Given the description of an element on the screen output the (x, y) to click on. 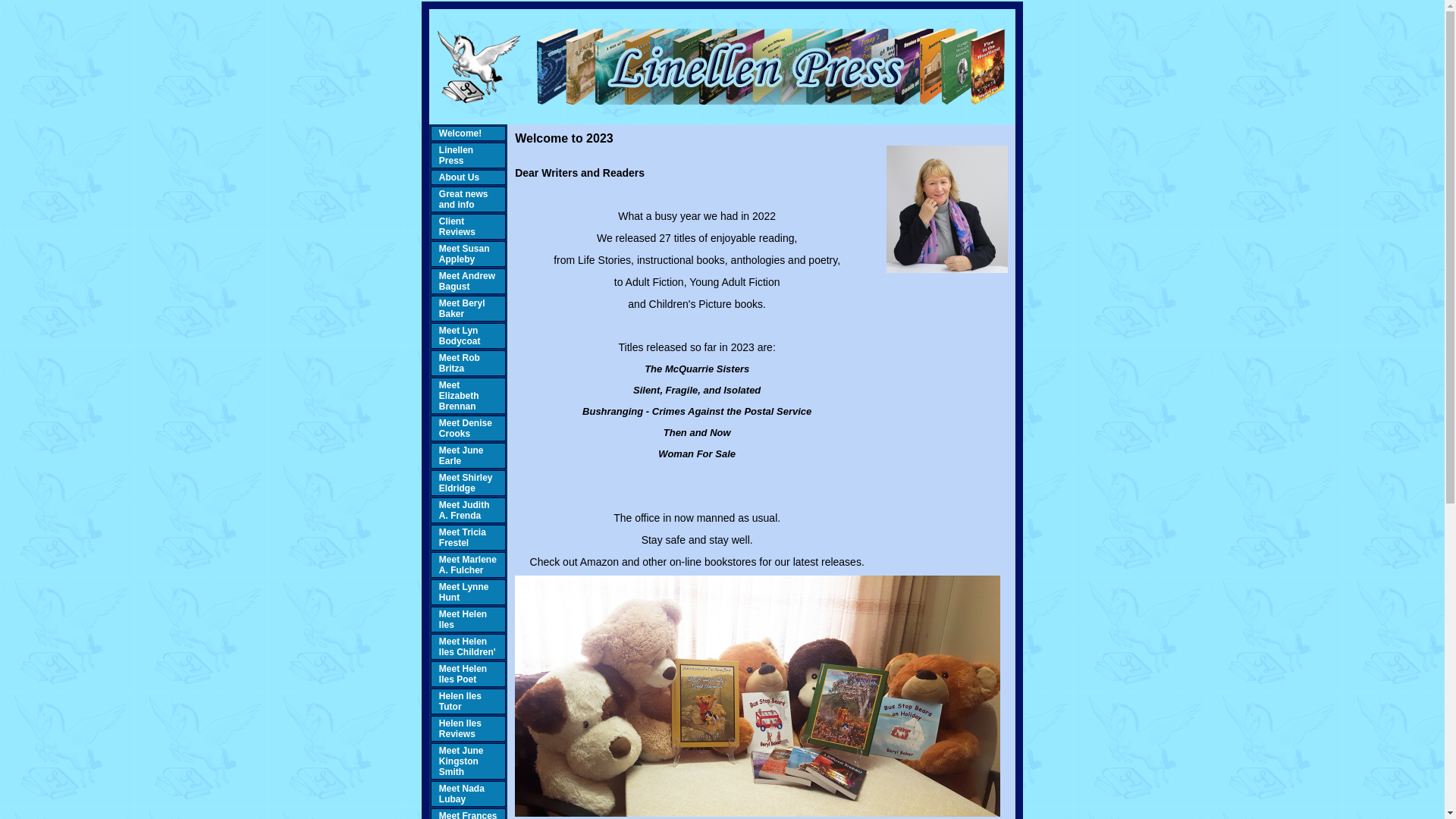
Meet Elizabeth Brennan Element type: text (459, 395)
Meet Lyn Bodycoat Element type: text (459, 335)
Welcome! Element type: text (460, 133)
Meet Marlene A. Fulcher Element type: text (467, 564)
About Us Element type: text (459, 177)
Linellen Press Element type: text (456, 155)
Meet Rob Britza Element type: text (459, 362)
Meet Nada Lubay Element type: text (461, 793)
Meet Andrew Bagust Element type: text (467, 280)
Meet Helen Iles Poet Element type: text (462, 673)
Meet June Kingston Smith Element type: text (461, 761)
Helen Iles Tutor Element type: text (460, 701)
Client Reviews Element type: text (457, 226)
Meet Denise Crooks Element type: text (465, 428)
Meet Tricia Frestel Element type: text (462, 537)
Meet Shirley Eldridge Element type: text (465, 482)
Meet June Earle Element type: text (461, 455)
Meet Lynne Hunt Element type: text (464, 591)
Great news and info Element type: text (463, 199)
Meet Beryl Baker Element type: text (462, 308)
Helen Iles Reviews Element type: text (460, 728)
Meet Helen Iles Children' Element type: text (467, 646)
Meet Helen Iles Element type: text (462, 619)
Meet Susan Appleby Element type: text (464, 253)
Meet Judith A. Frenda Element type: text (464, 509)
